Given the description of an element on the screen output the (x, y) to click on. 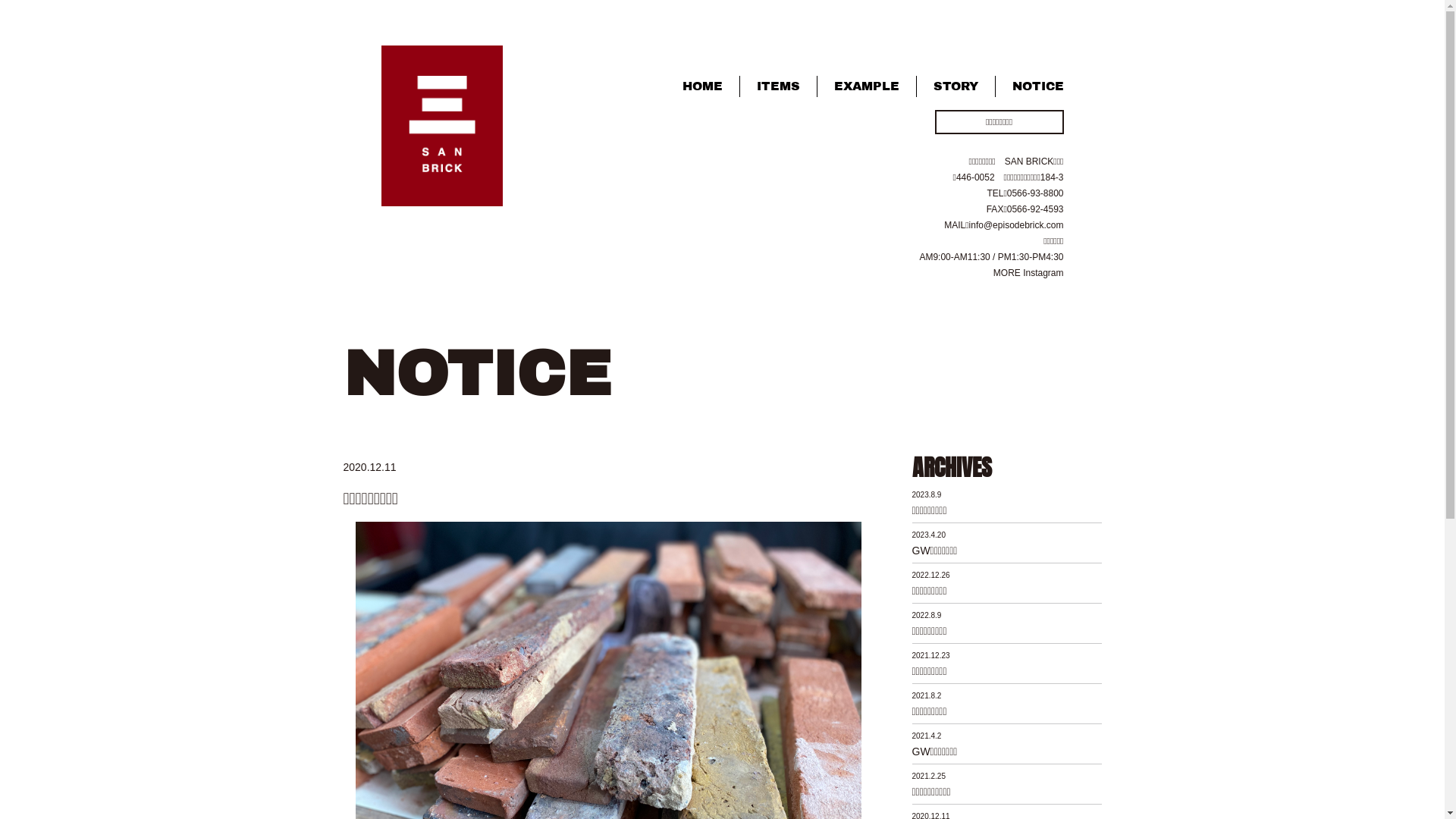
EXAMPLE Element type: text (866, 85)
STORY Element type: text (955, 85)
NOTICE Element type: text (1028, 85)
HOME Element type: text (702, 85)
ITEMS Element type: text (778, 85)
MORE Instagram Element type: text (1028, 272)
